Given the description of an element on the screen output the (x, y) to click on. 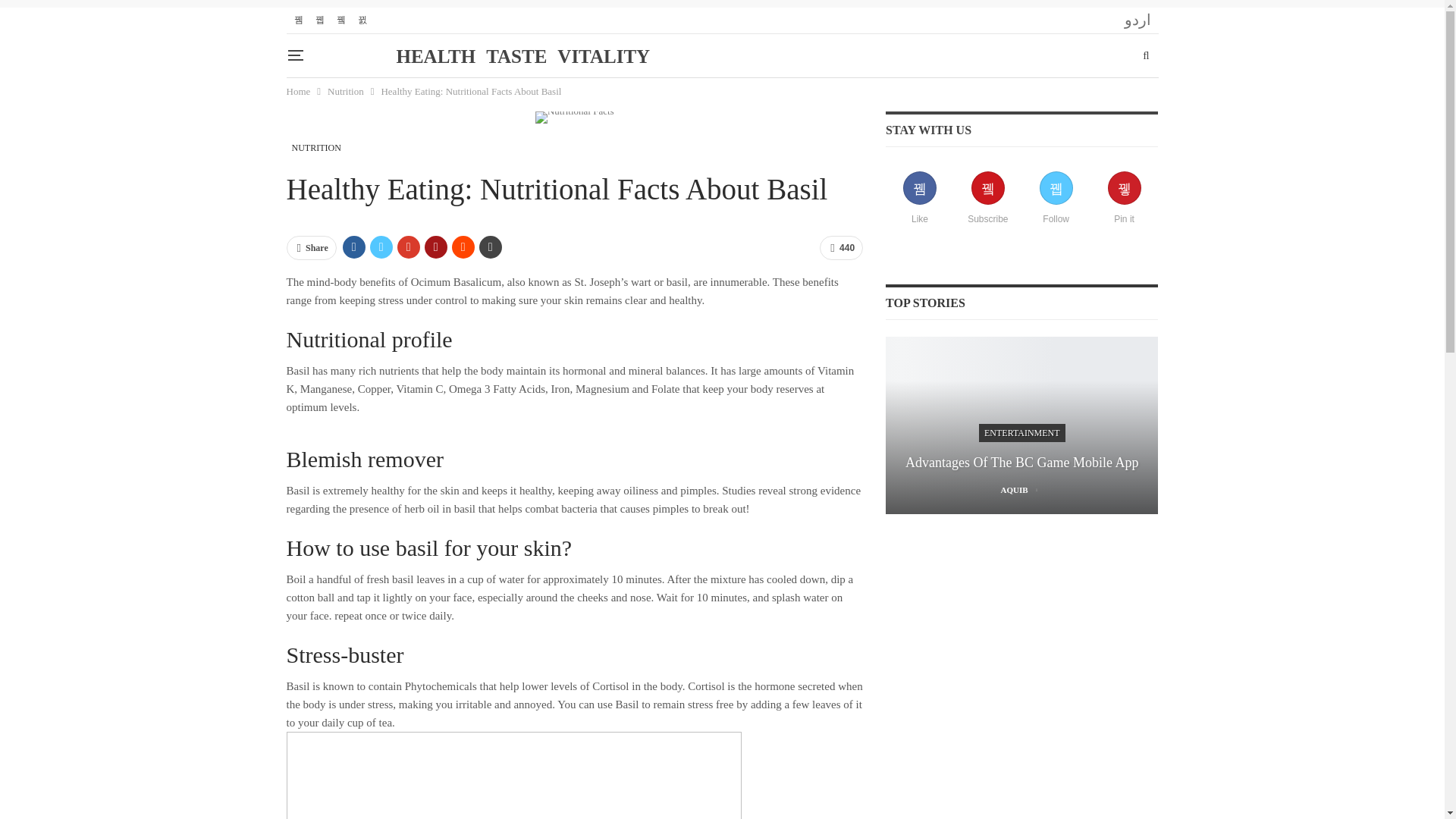
Home (298, 91)
HTV Urdu (1137, 19)
TASTE (515, 56)
Browse Author Articles (1021, 490)
HEALTH (436, 56)
Advantages of the BC Game Mobile App (1020, 425)
VITALITY (603, 56)
Nutrition (345, 91)
NUTRITION (316, 147)
